Given the description of an element on the screen output the (x, y) to click on. 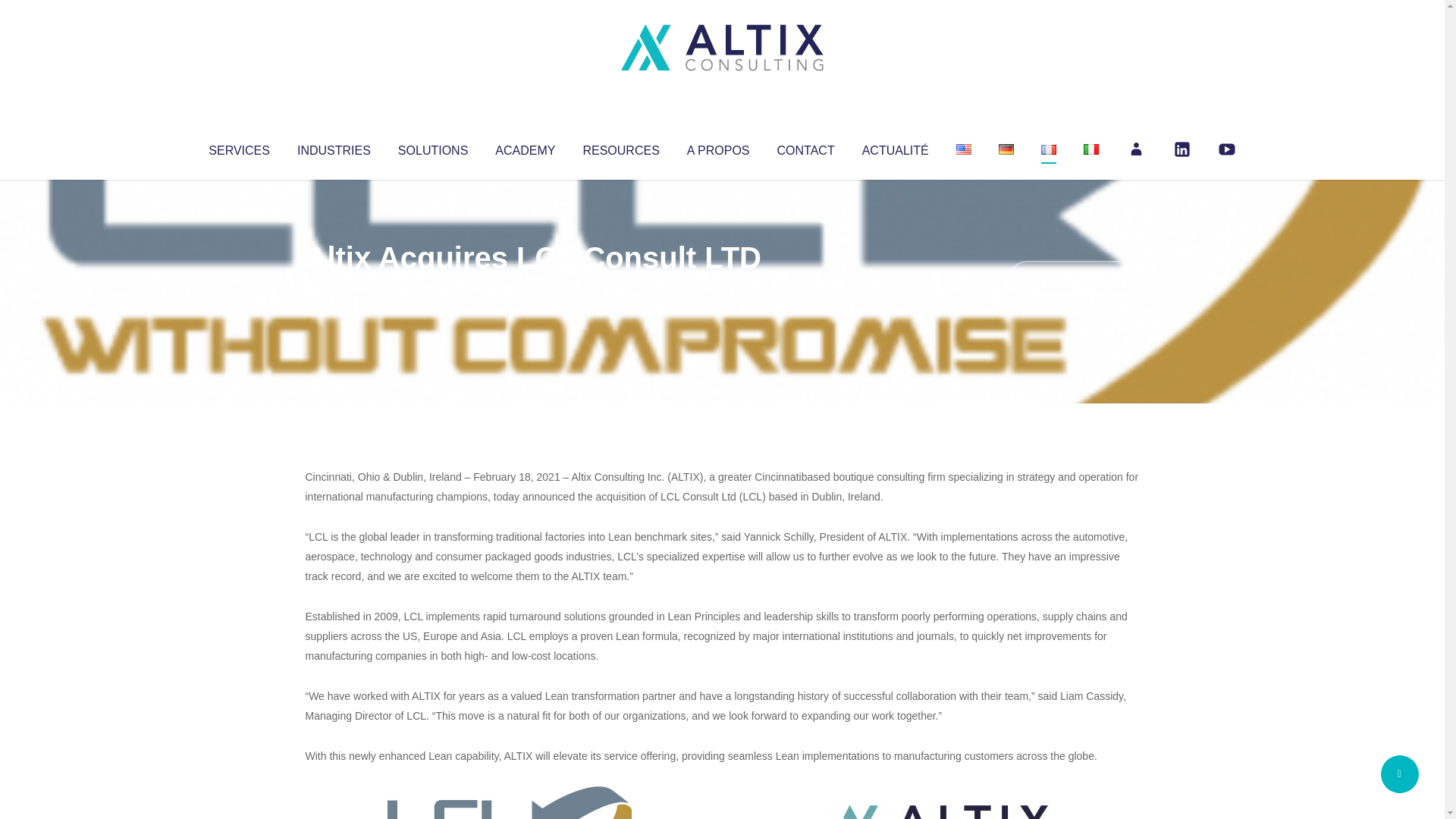
ACADEMY (524, 146)
SERVICES (238, 146)
SOLUTIONS (432, 146)
Articles par Altix (333, 287)
Uncategorized (530, 287)
RESOURCES (620, 146)
Altix (333, 287)
INDUSTRIES (334, 146)
A PROPOS (718, 146)
No Comments (1073, 278)
